Given the description of an element on the screen output the (x, y) to click on. 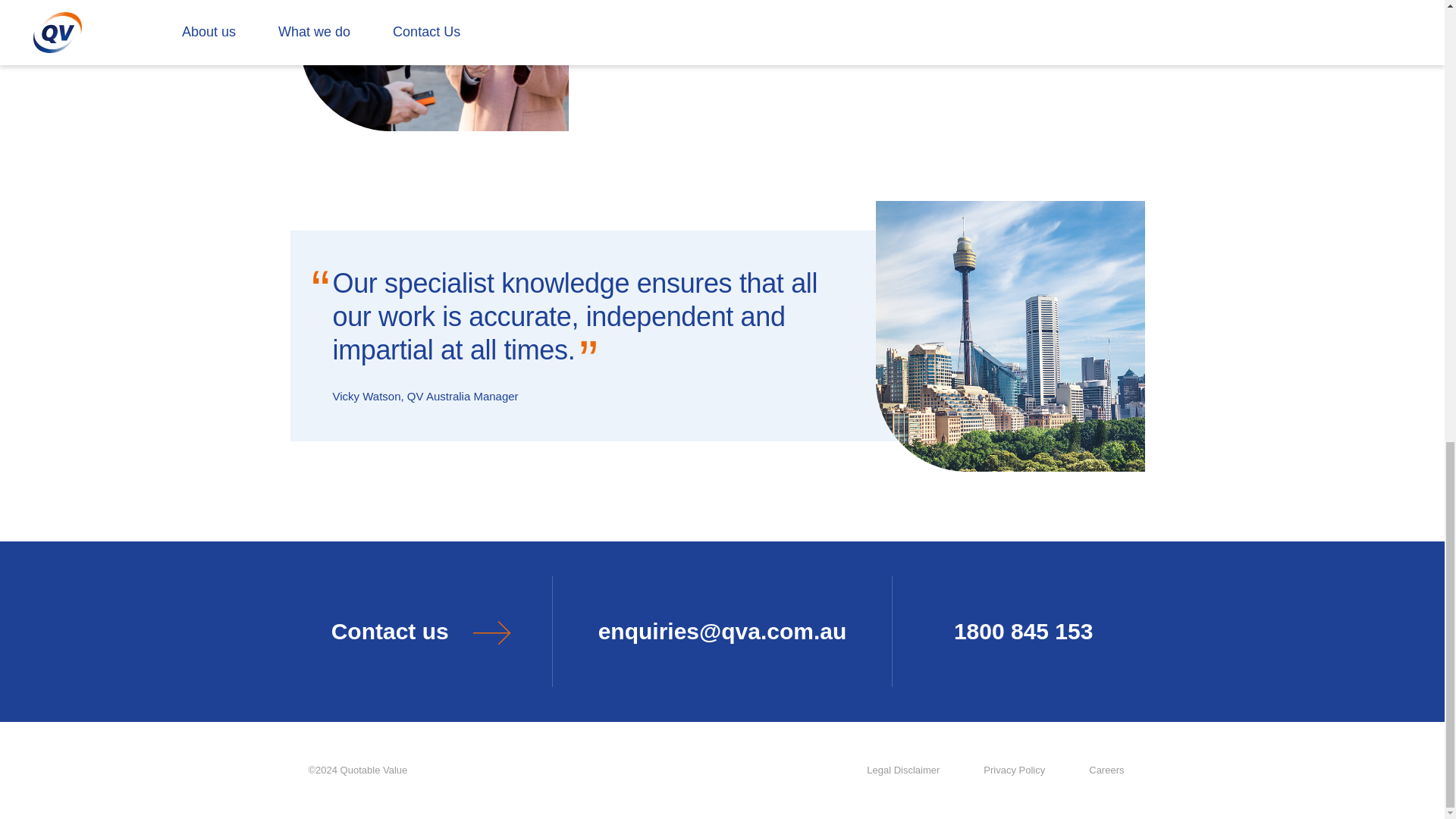
Careers (1106, 769)
Legal Disclaimer (903, 769)
Privacy Policy (1014, 769)
More about rating valuations (755, 20)
1800 845 153 (1023, 631)
Contact us (420, 631)
